Given the description of an element on the screen output the (x, y) to click on. 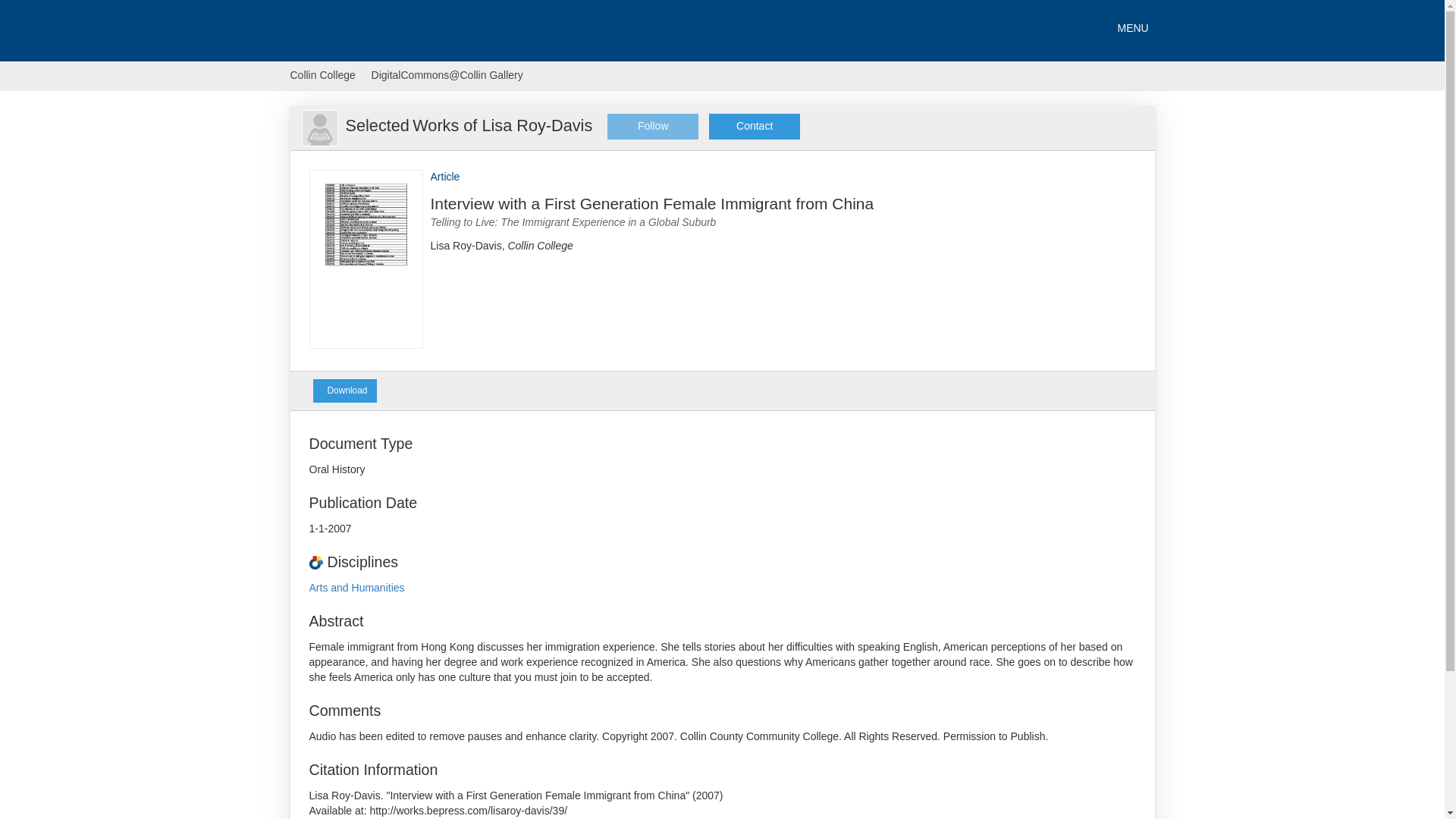
Follow (652, 126)
Download (345, 390)
Follow (652, 126)
Collin College (328, 75)
Digital Commons Network: Arts and Humanities (356, 587)
Contact (754, 126)
Back to Lisa Roy-Davis's Works (318, 127)
Arts and Humanities (356, 587)
